Given the description of an element on the screen output the (x, y) to click on. 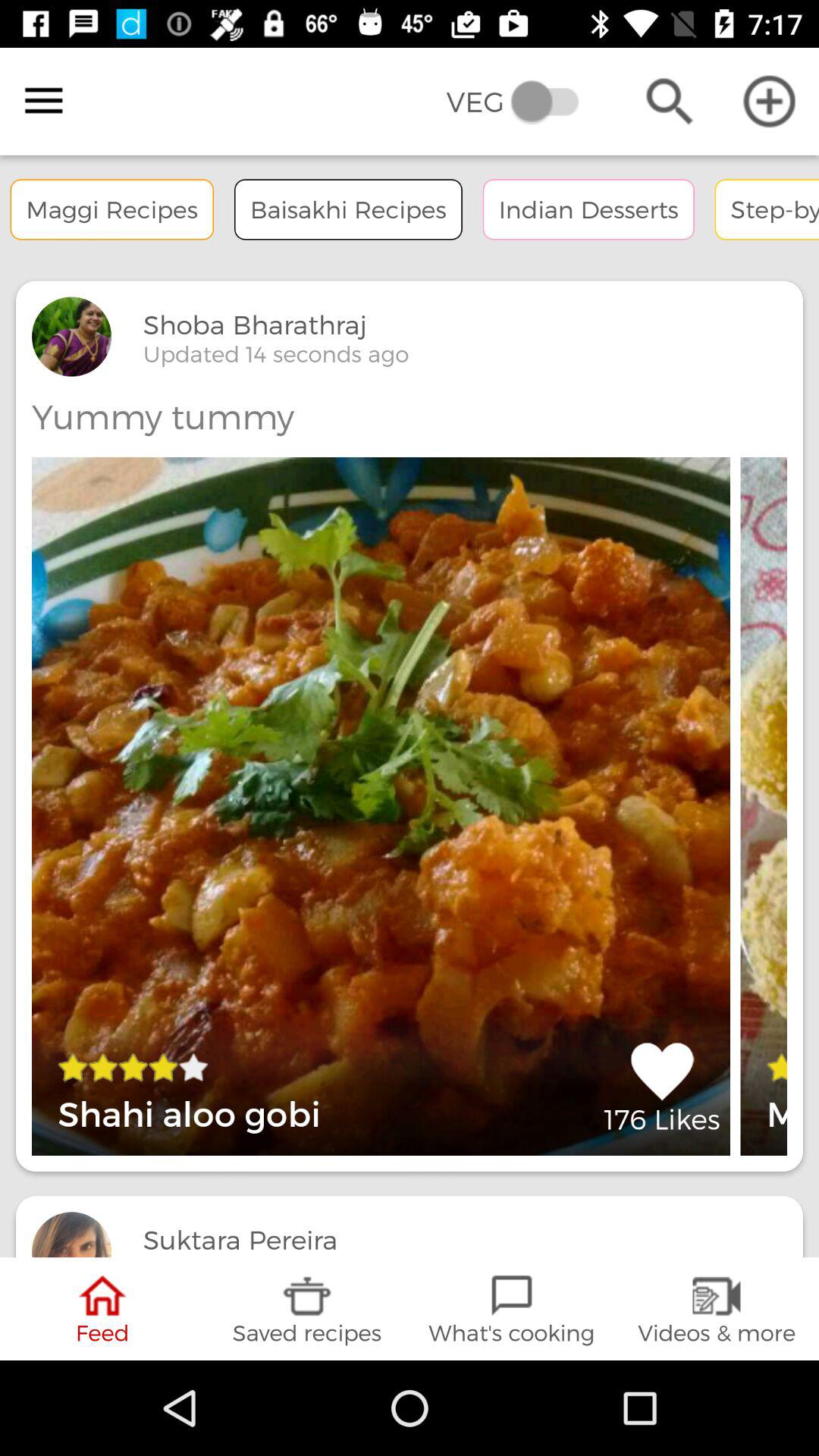
swipe until the yummy tummy icon (162, 416)
